Given the description of an element on the screen output the (x, y) to click on. 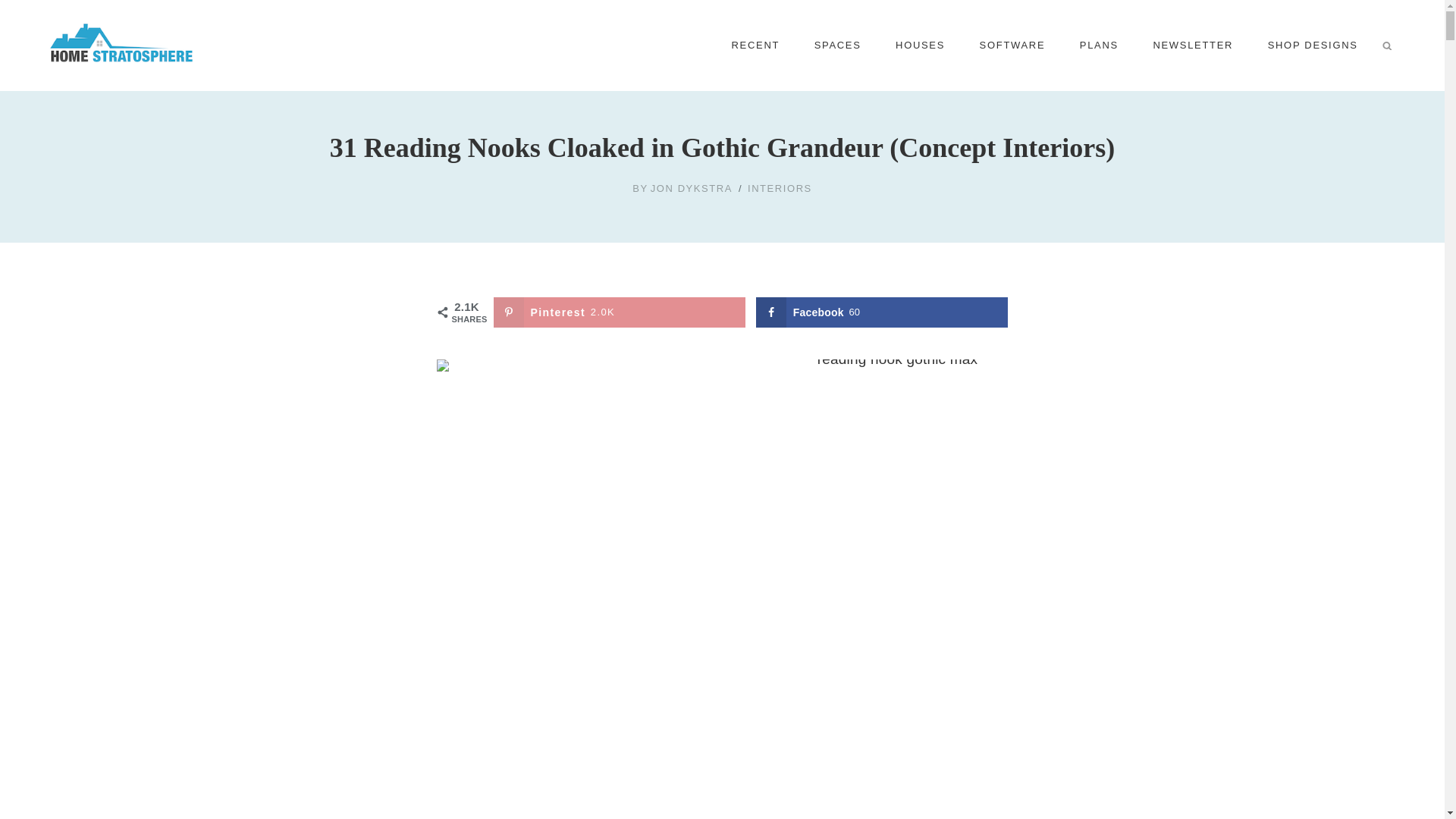
Save to Pinterest (619, 312)
RECENT (755, 45)
SPACES (836, 45)
Share on Facebook (882, 312)
